Given the description of an element on the screen output the (x, y) to click on. 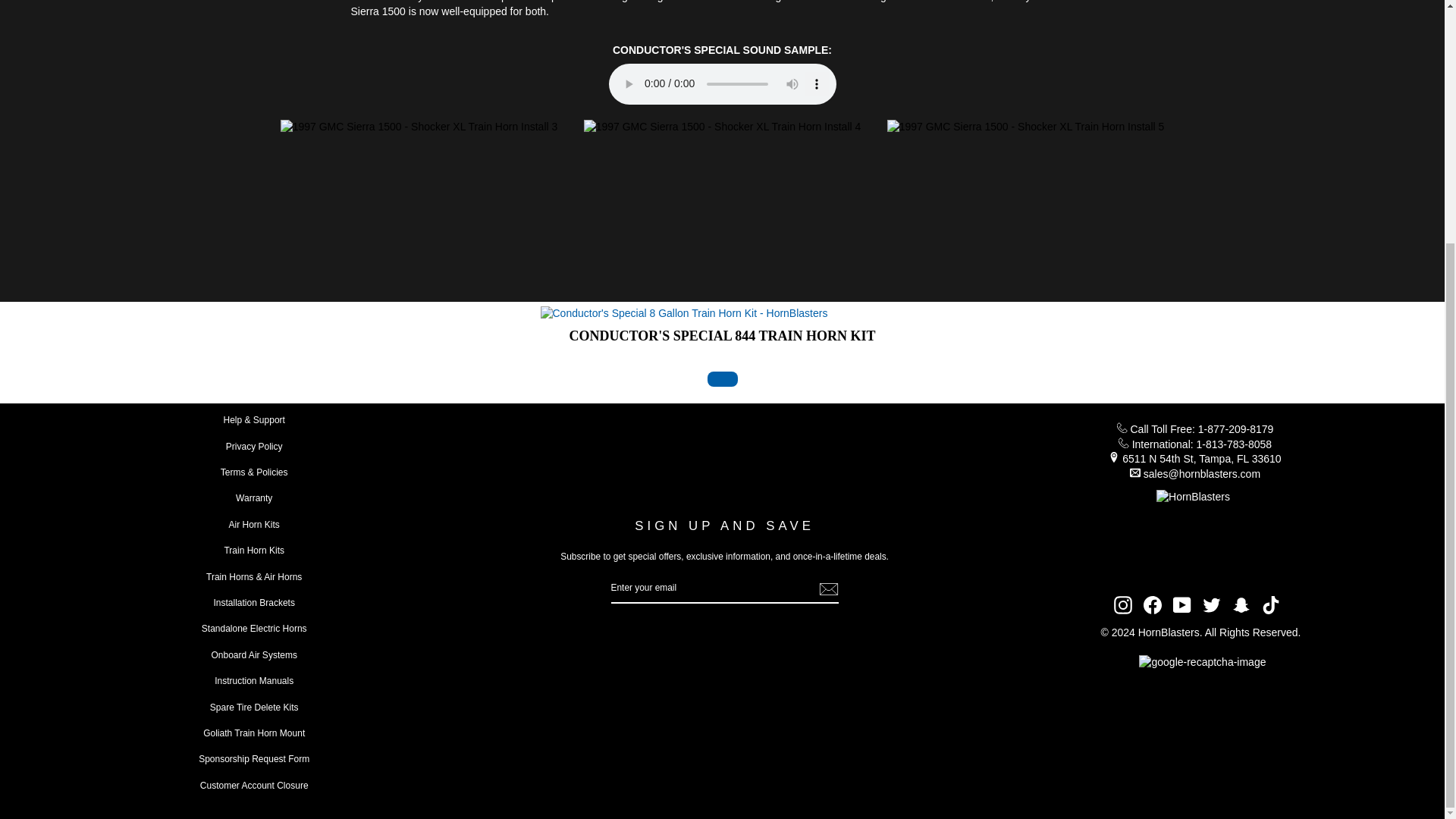
envelop (1134, 471)
phone (1123, 442)
HornBlasters on Snapchat (1240, 605)
HornBlasters on Twitter (1211, 605)
HornBlasters on Facebook (1151, 605)
HornBlasters on Instagram (1122, 605)
HornBlasters on TikTok (1270, 605)
HornBlasters on YouTube (1182, 605)
location2 (1113, 457)
phone (1121, 427)
